Given the description of an element on the screen output the (x, y) to click on. 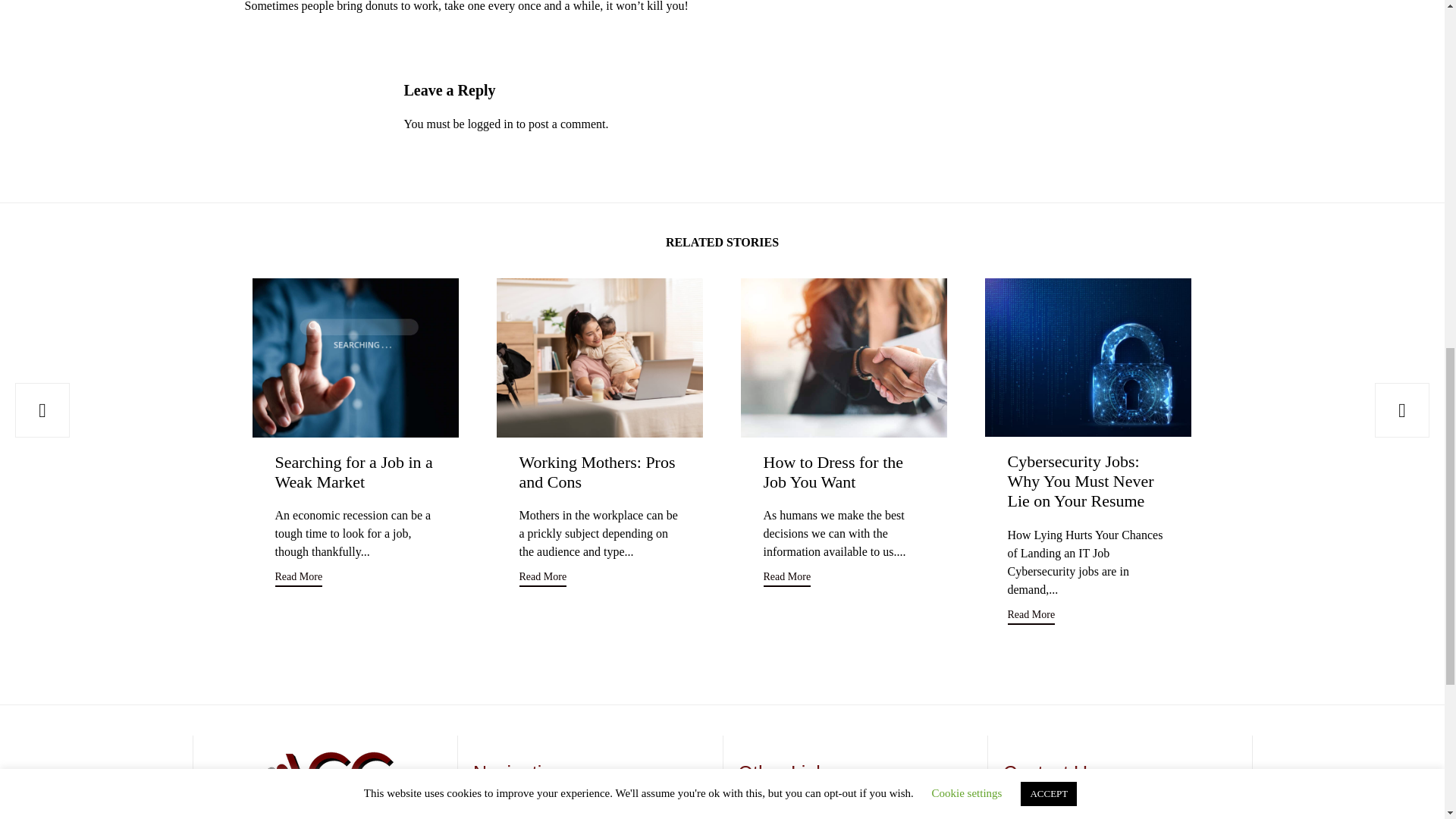
Working Mothers: Pros and Cons (596, 472)
Cybersecurity Jobs: Why You Must Never Lie on Your Resume (1087, 357)
Searching for a Job in a Weak Market (353, 472)
Searching for a Job in a Weak Market (353, 472)
Working Mothers: Pros and Cons (598, 357)
How to Dress for the Job You Want (832, 472)
logged in (490, 124)
Cybersecurity Jobs: Why You Must Never Lie on Your Resume (1080, 481)
Searching for a Job in a Weak Market (354, 357)
How to Dress for the Job You Want (842, 357)
